Given the description of an element on the screen output the (x, y) to click on. 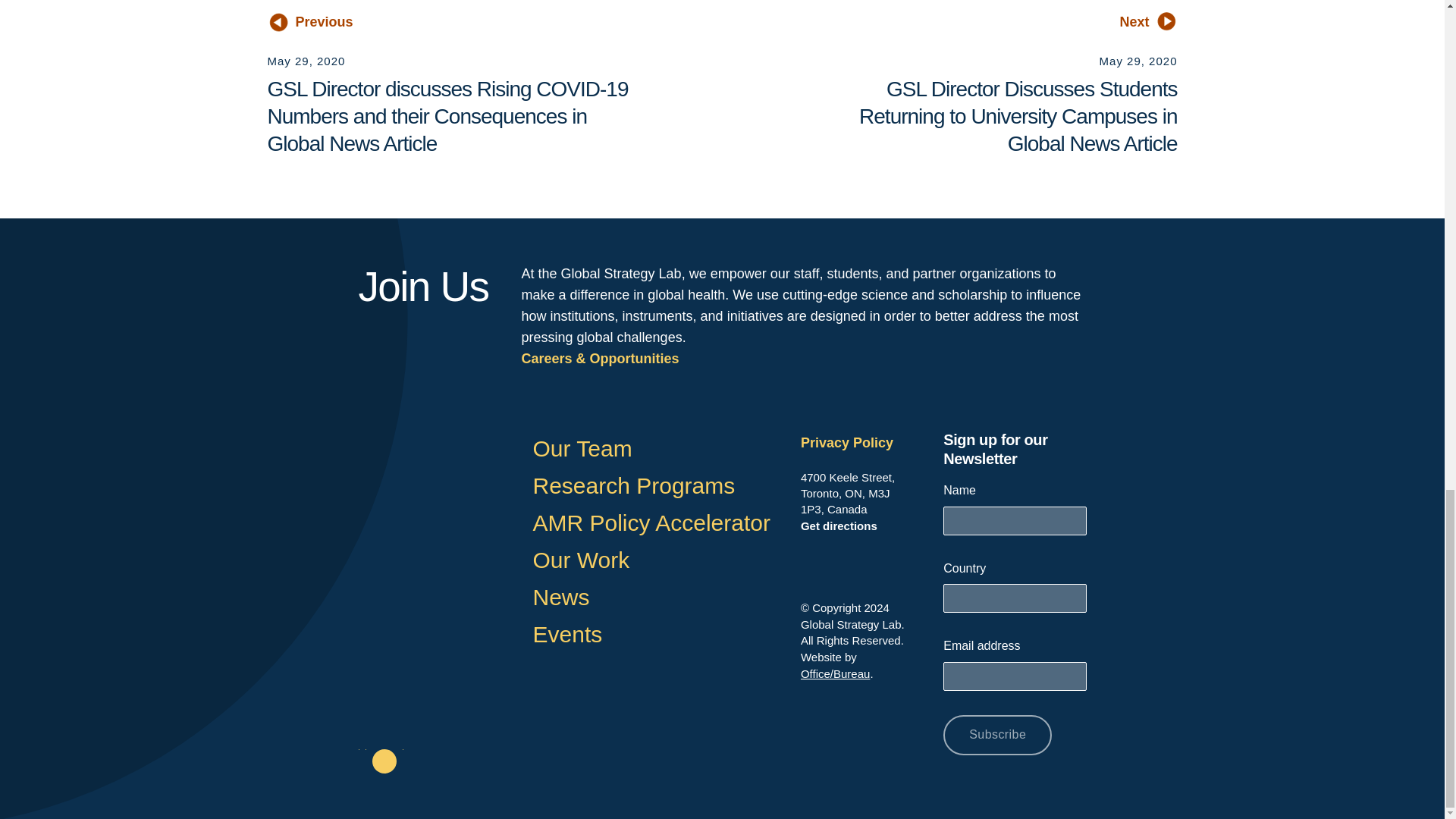
X (383, 761)
Subscribe (997, 734)
